Given the description of an element on the screen output the (x, y) to click on. 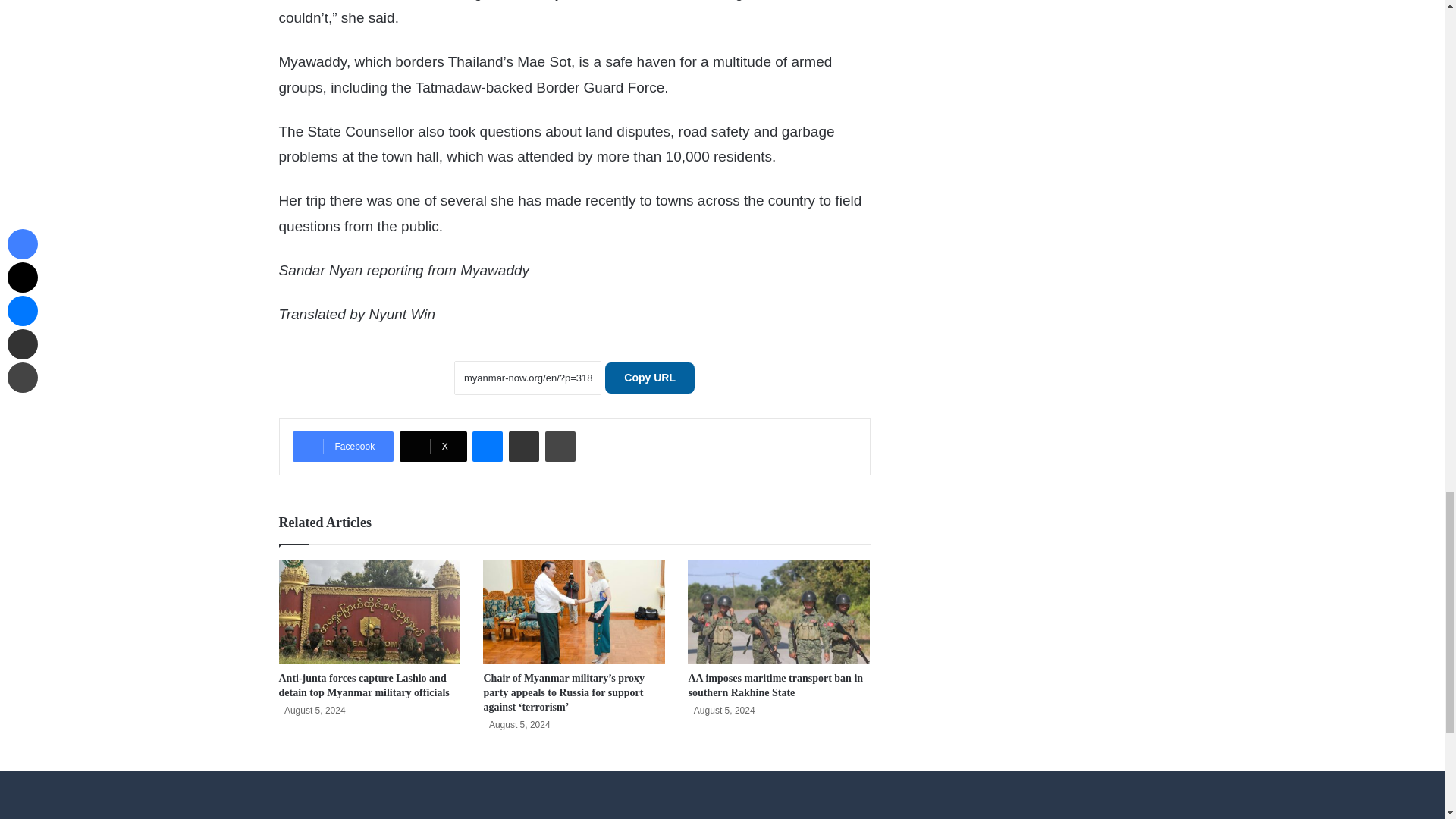
Print (559, 446)
Share via Email (523, 446)
X (432, 446)
Copy URL (649, 377)
Messenger (486, 446)
Facebook (343, 446)
Share via Email (523, 446)
Facebook (343, 446)
Print (559, 446)
X (432, 446)
Messenger (486, 446)
AA imposes maritime transport ban in southern Rakhine State (775, 685)
